Given the description of an element on the screen output the (x, y) to click on. 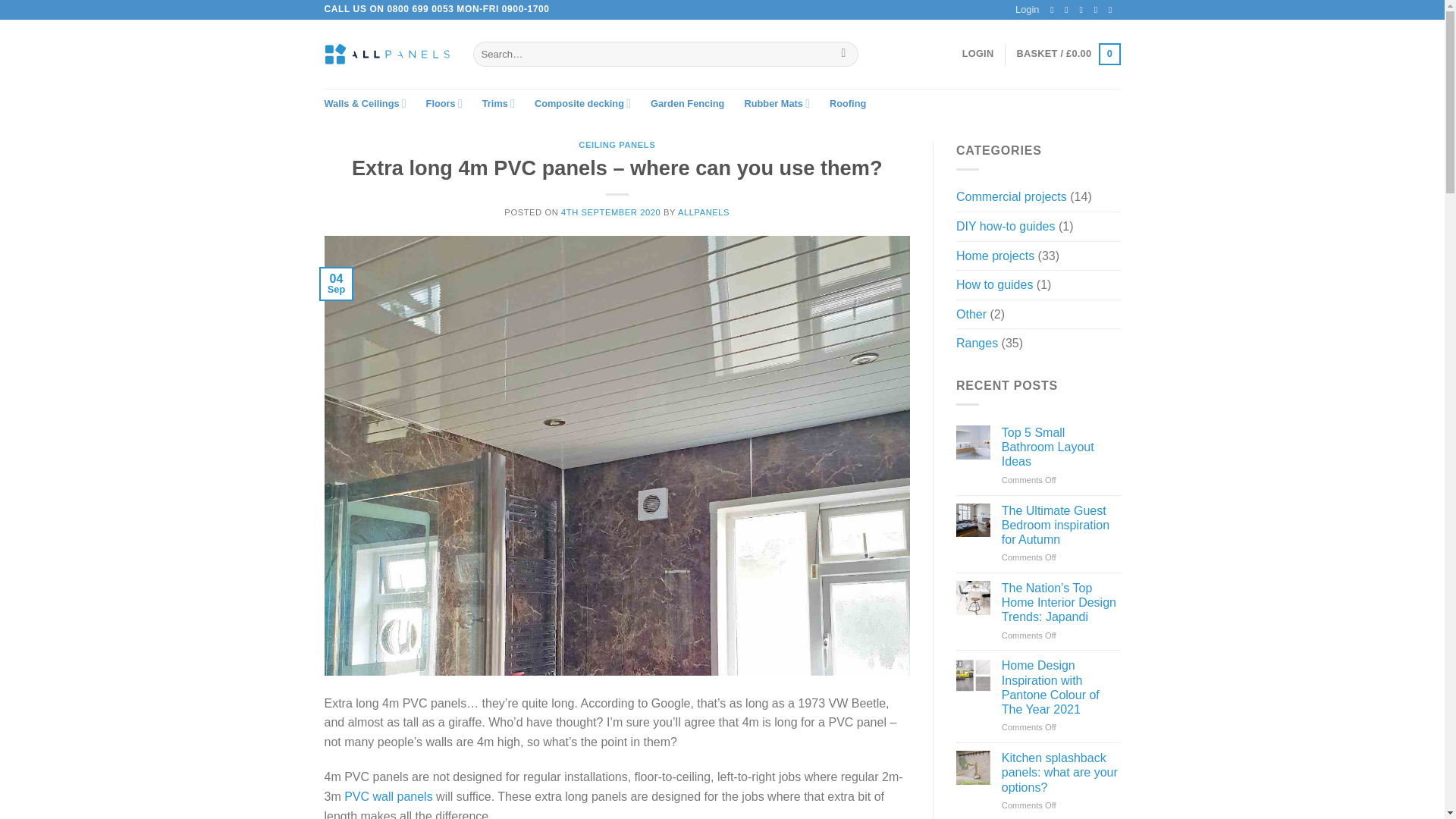
Login (978, 53)
Search (843, 54)
LOGIN (978, 53)
Login (1026, 9)
Basket (1067, 54)
